Given the description of an element on the screen output the (x, y) to click on. 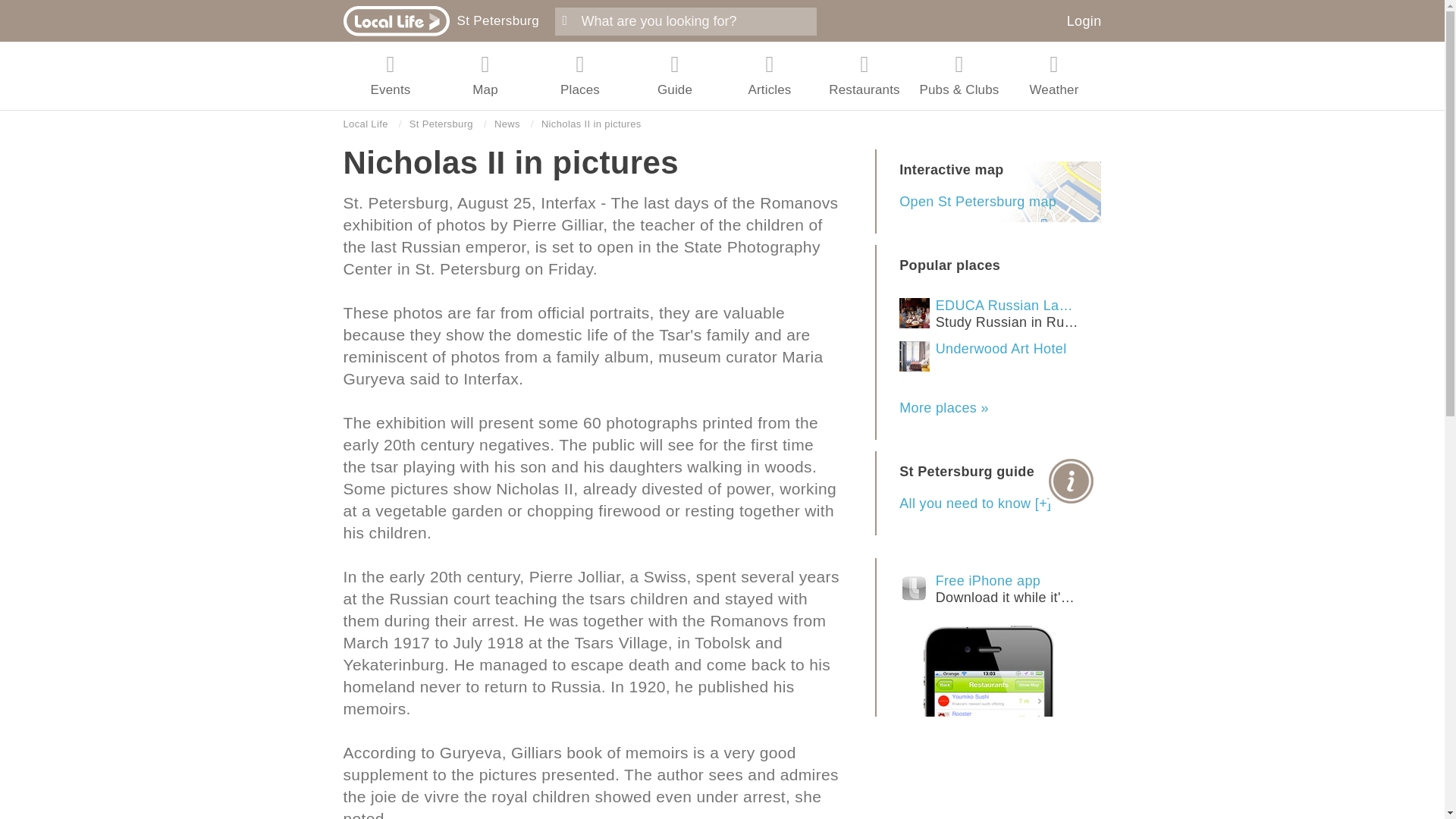
St Petersburg (497, 20)
News (988, 313)
St Petersburg (507, 124)
Local Life (988, 589)
Login (441, 124)
Open St Petersburg map (364, 124)
Restaurants (1084, 20)
Underwood Art Hotel (978, 201)
